Given the description of an element on the screen output the (x, y) to click on. 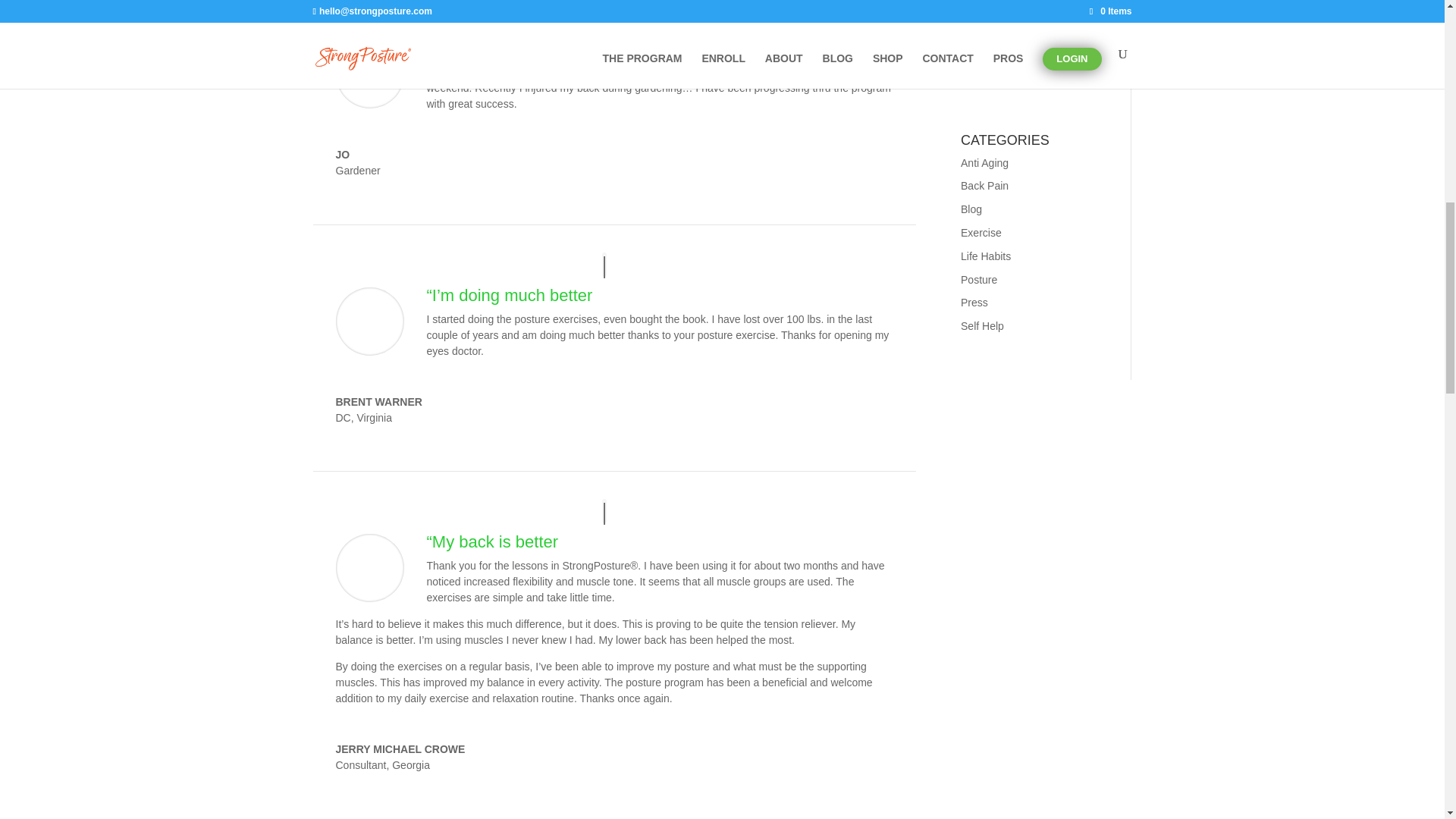
Exercise (980, 232)
Self Help (982, 326)
Blog (970, 209)
Posture (978, 279)
Press (974, 302)
Anti Aging (984, 162)
Life Habits (985, 256)
Back Pain (984, 185)
